Given the description of an element on the screen output the (x, y) to click on. 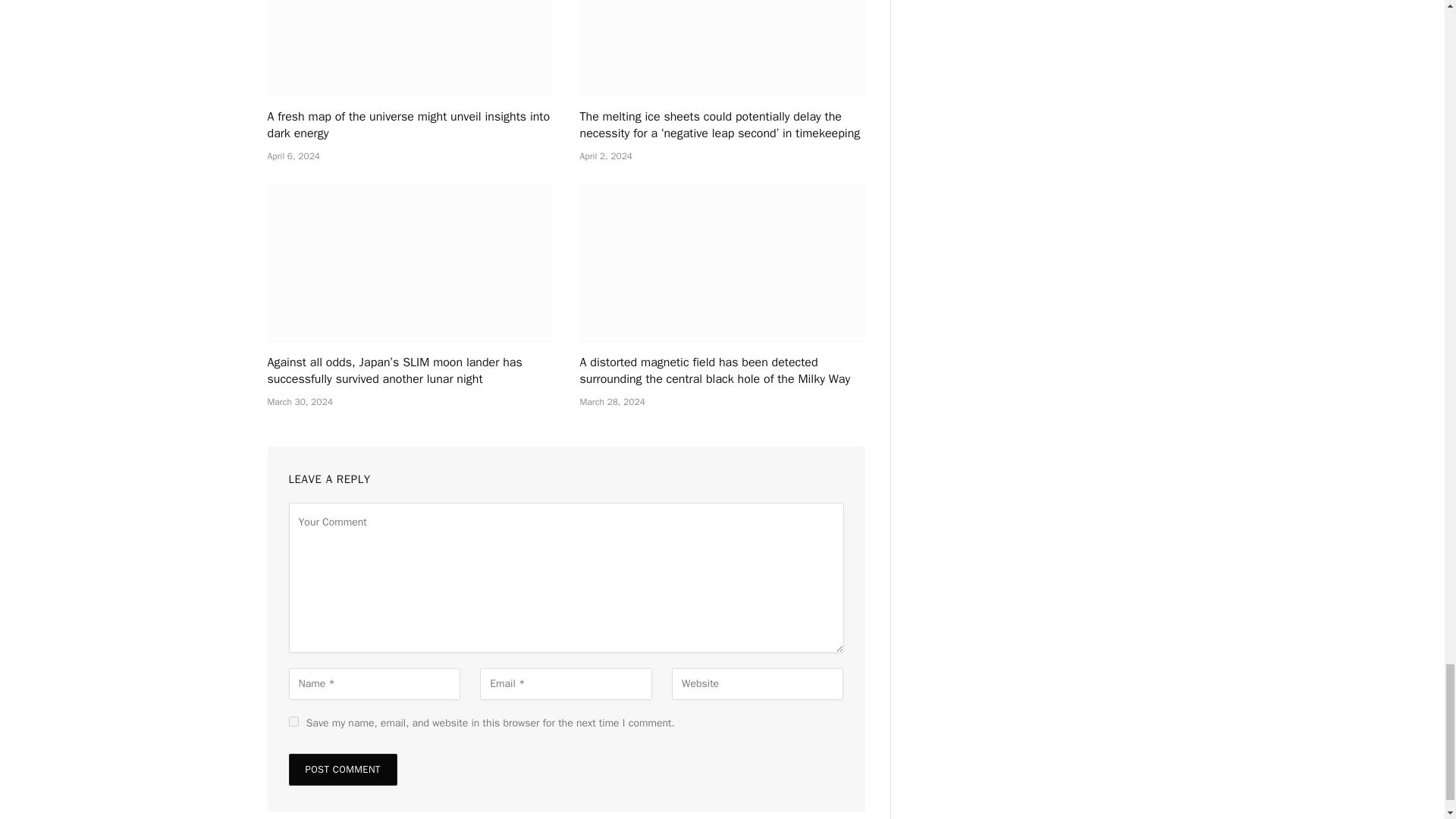
Post Comment (342, 769)
yes (293, 721)
